Given the description of an element on the screen output the (x, y) to click on. 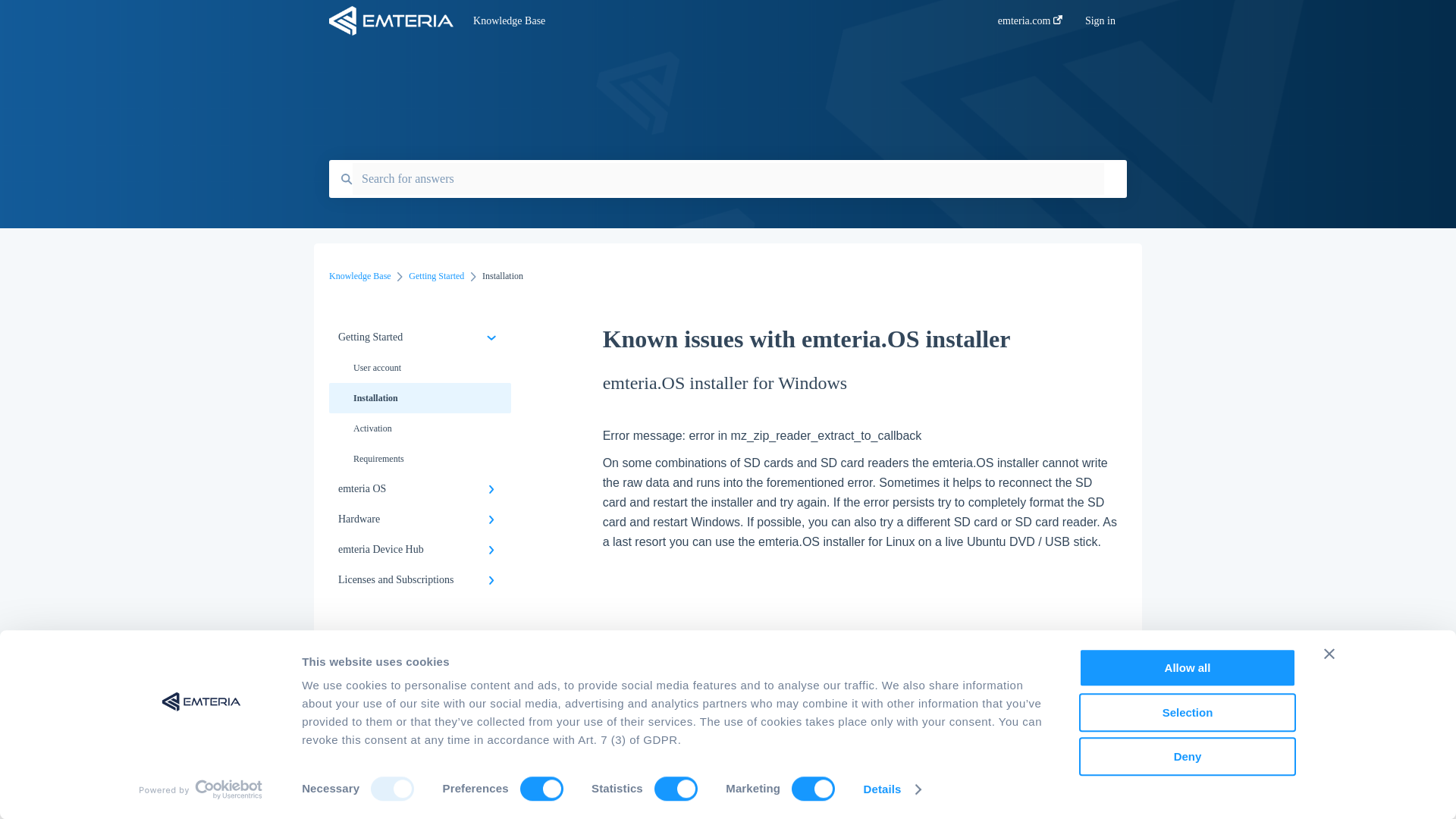
Deny (1186, 756)
Details (891, 789)
Selection (1186, 712)
